Given the description of an element on the screen output the (x, y) to click on. 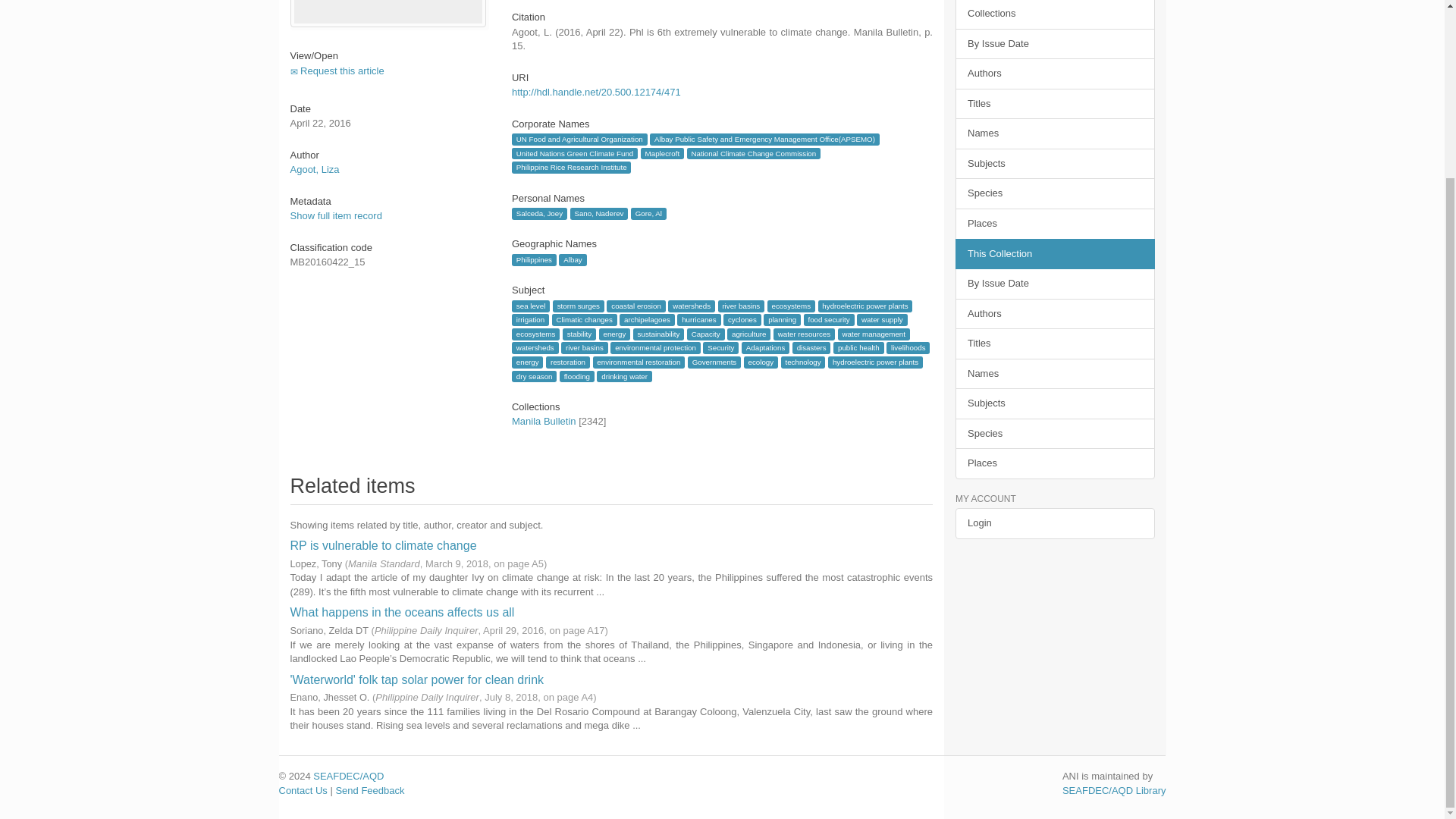
archipelagoes (647, 319)
Gore, Al (648, 214)
coastal erosion (636, 306)
Agoot, Liza (314, 169)
hydroelectric power plants (864, 306)
watersheds (691, 306)
United Nations Green Climate Fund (574, 153)
Philippine Rice Research Institute (571, 167)
ecosystems (791, 306)
river basins (741, 306)
sea level (531, 306)
irrigation (530, 319)
Climatic changes (584, 319)
Show full item record (335, 215)
Request this article (336, 70)
